Given the description of an element on the screen output the (x, y) to click on. 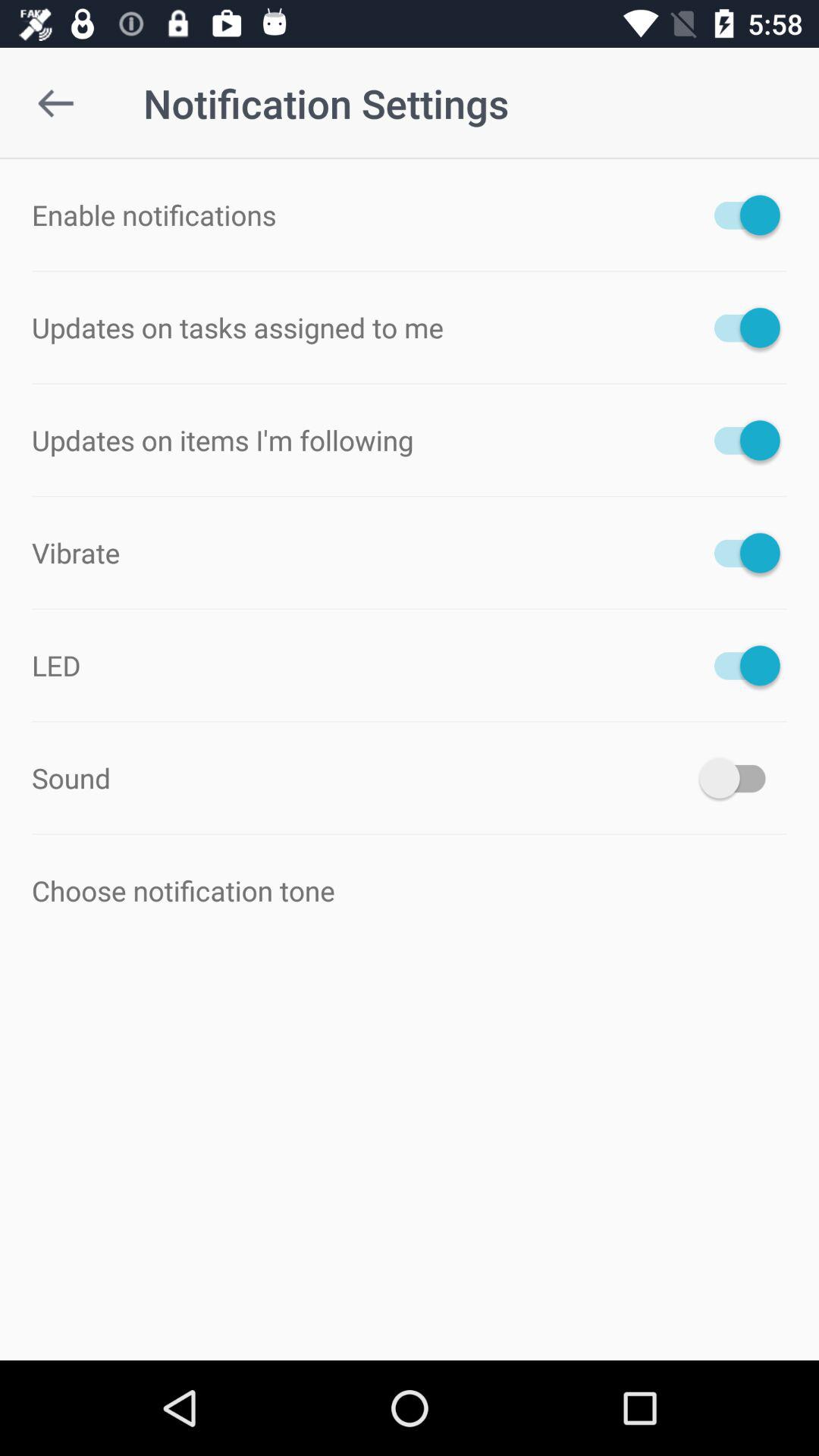
toggles vibrate option (739, 552)
